Given the description of an element on the screen output the (x, y) to click on. 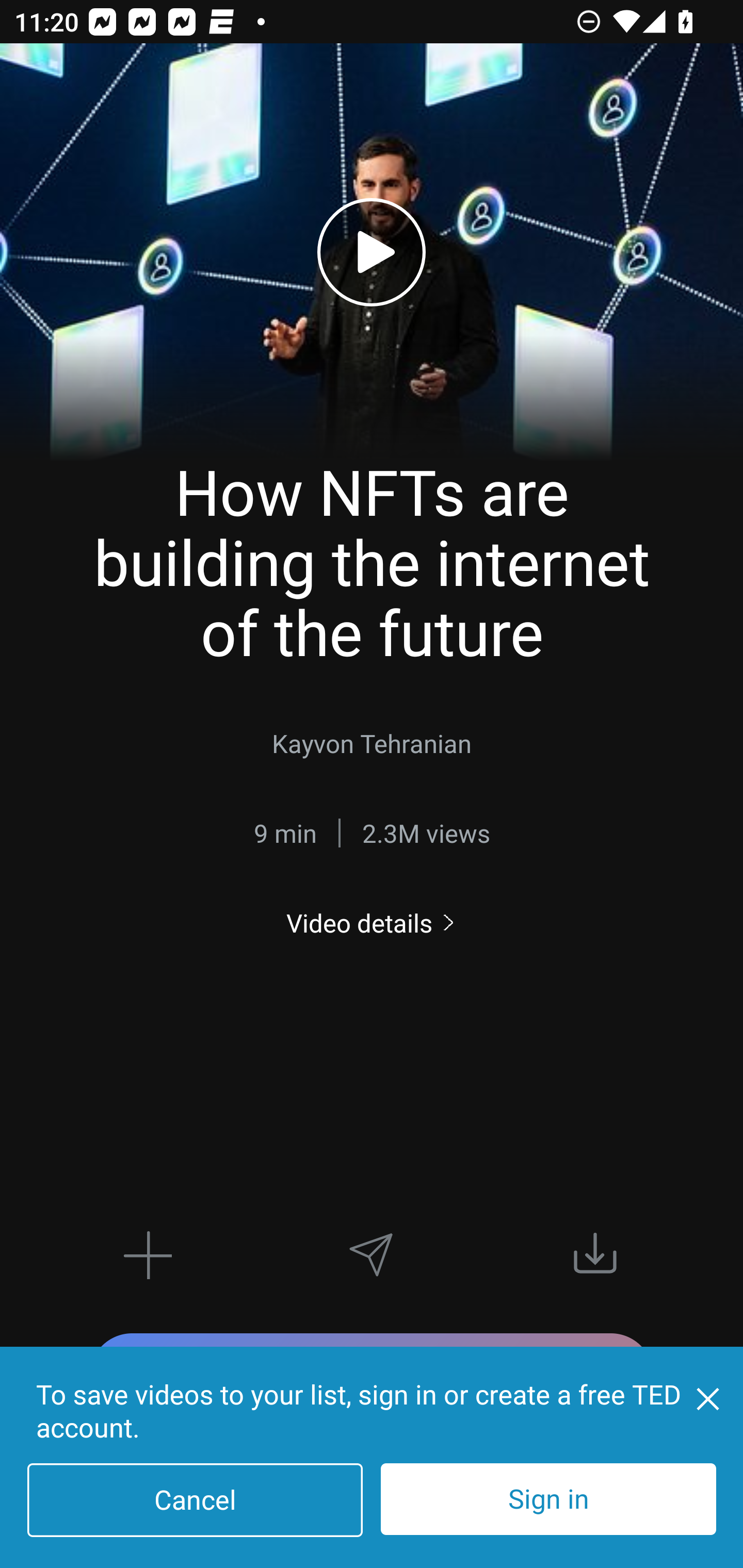
Video details (371, 922)
Cancel (194, 1499)
Sign in (548, 1498)
